Given the description of an element on the screen output the (x, y) to click on. 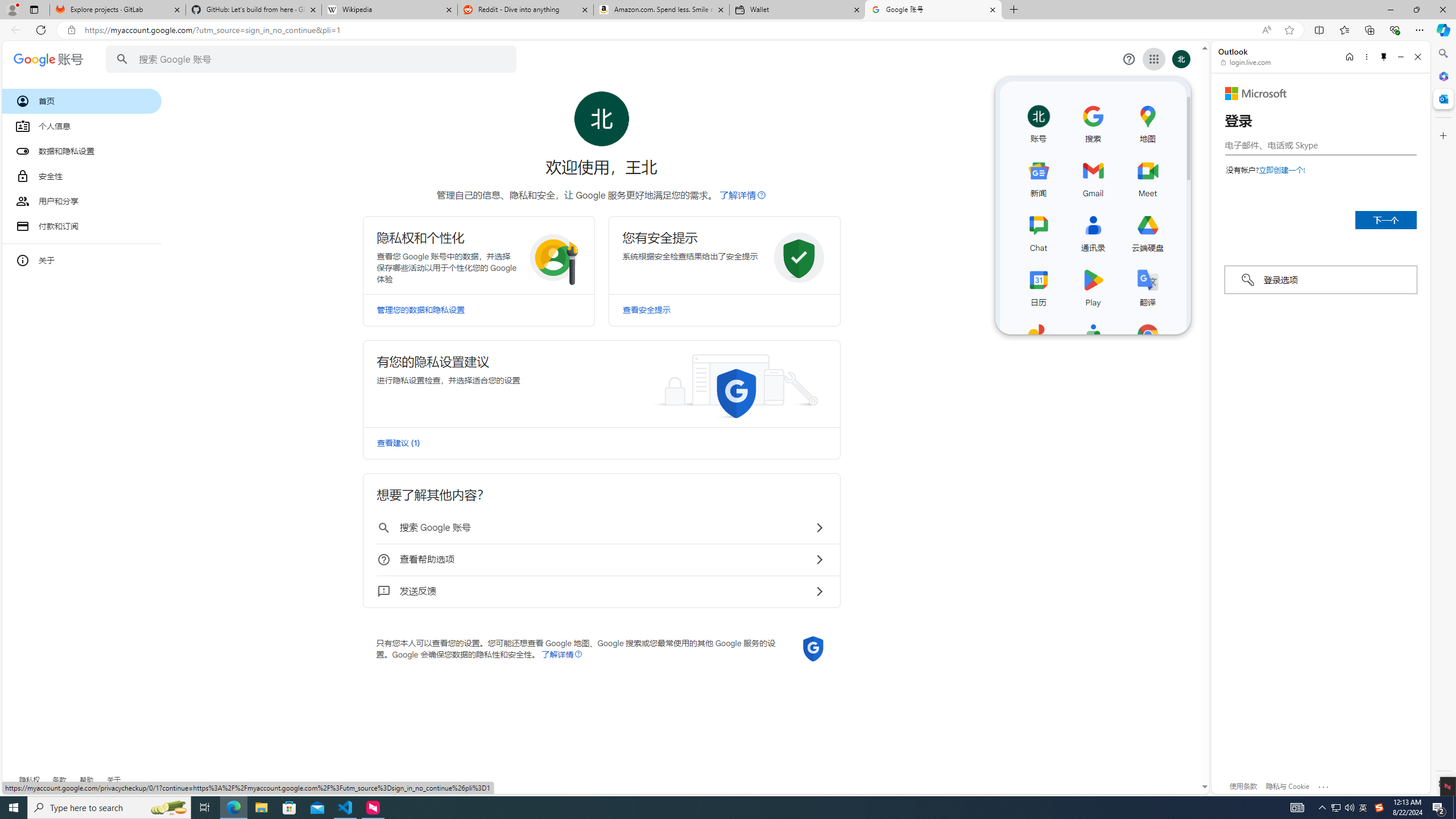
Chat (1038, 230)
Reddit - Dive into anything (525, 9)
